Given the description of an element on the screen output the (x, y) to click on. 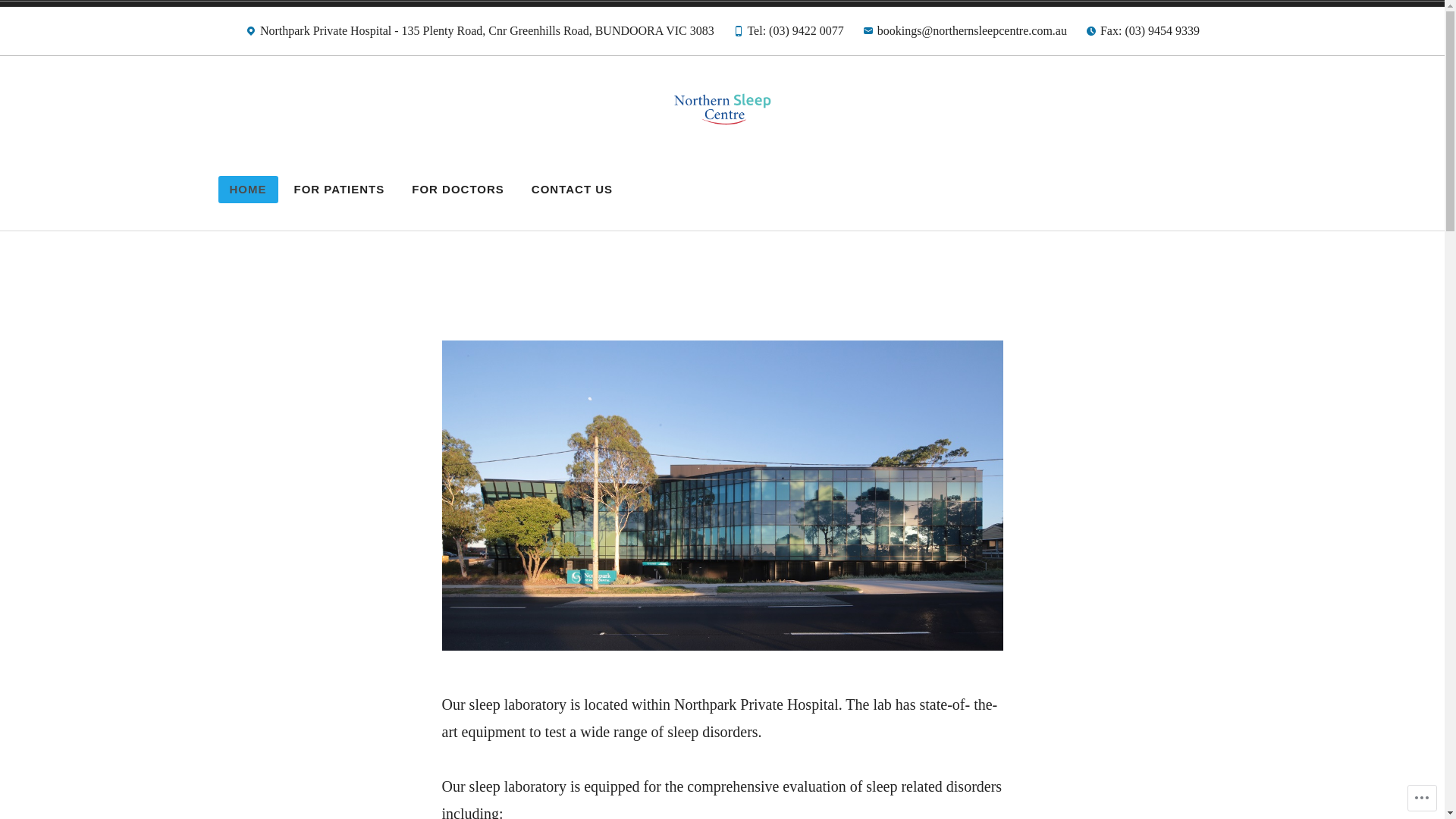
FOR DOCTORS Element type: text (457, 189)
Phone Tel: (03) 9422 0077 Element type: text (787, 34)
CONTACT US Element type: text (572, 189)
Northern Sleep Centre Element type: text (449, 171)
FOR PATIENTS Element type: text (338, 189)
E-mail bookings@northernsleepcentre.com.au Element type: text (964, 34)
HOME Element type: text (248, 189)
